Given the description of an element on the screen output the (x, y) to click on. 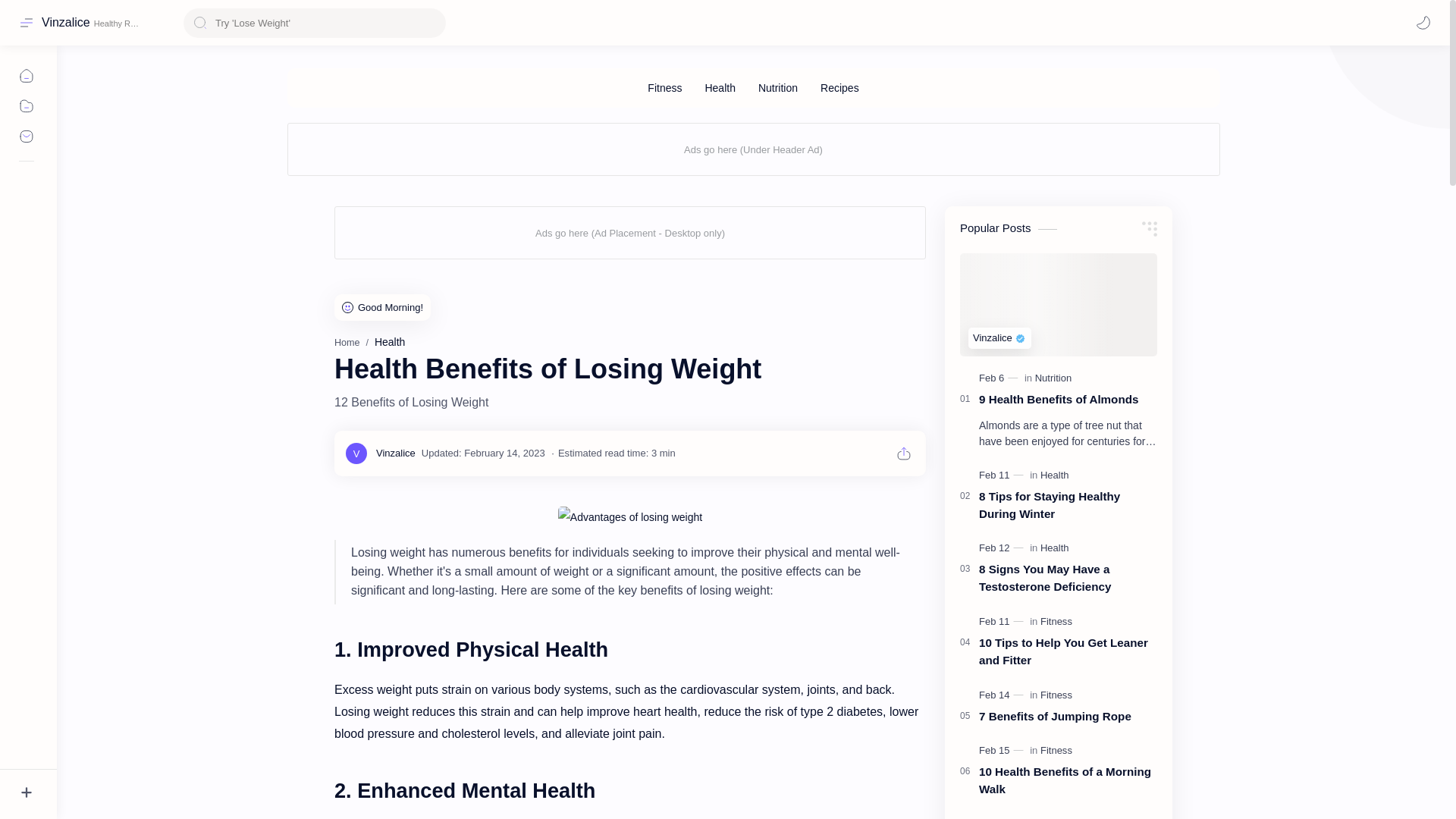
Published: February 10, 2023 (1002, 818)
Published: February 12, 2023 (1002, 548)
Published: February 11, 2023 (1002, 475)
Last updated: February 14, 2023 (483, 452)
Reasons to lose weight (629, 517)
Health (389, 341)
Published: February 6, 2023 (1000, 377)
Home (346, 342)
Published: February 14, 2023 (1002, 694)
Published: February 15, 2023 (1002, 750)
Vinzalice (66, 22)
Published: February 11, 2023 (1002, 621)
